Given the description of an element on the screen output the (x, y) to click on. 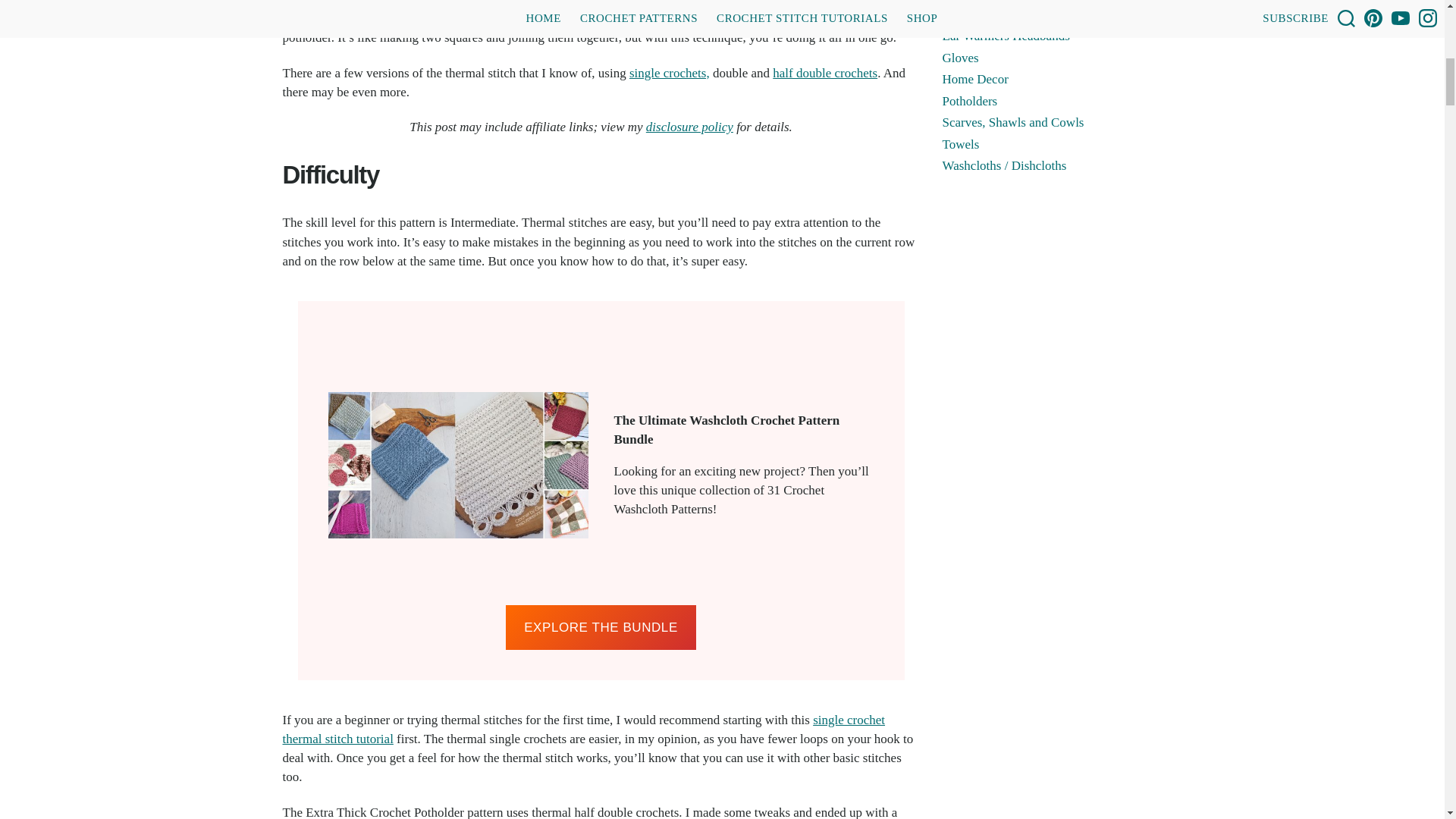
single crochets, (669, 73)
disclosure policy (689, 126)
half double crochets (825, 73)
single crochet thermal stitch tutorial (583, 729)
EXPLORE THE BUNDLE (601, 627)
